Given the description of an element on the screen output the (x, y) to click on. 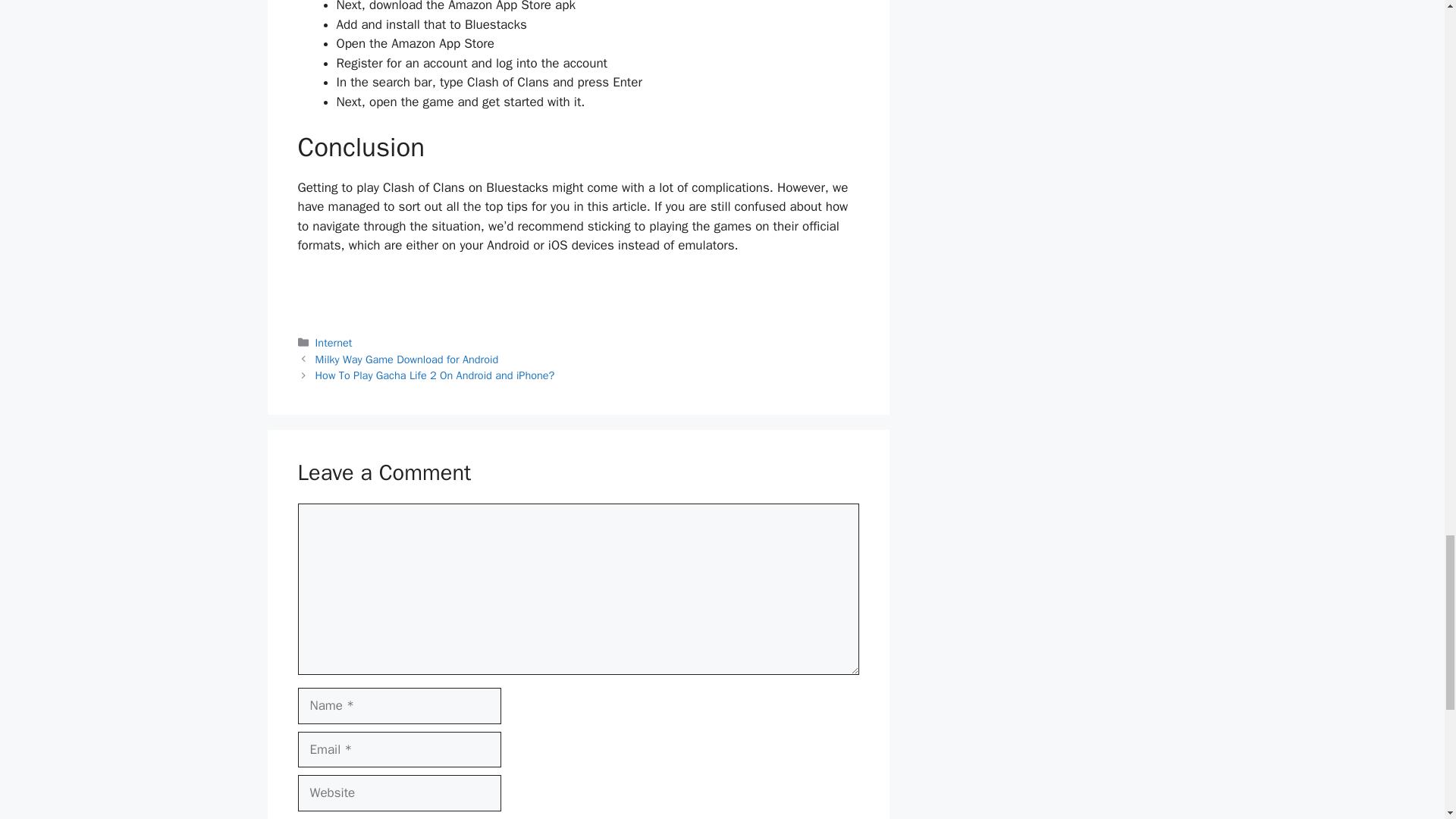
Milky Way Game Download for Android (407, 359)
Internet (333, 342)
How To Play Gacha Life 2 On Android and iPhone? (434, 375)
